Given the description of an element on the screen output the (x, y) to click on. 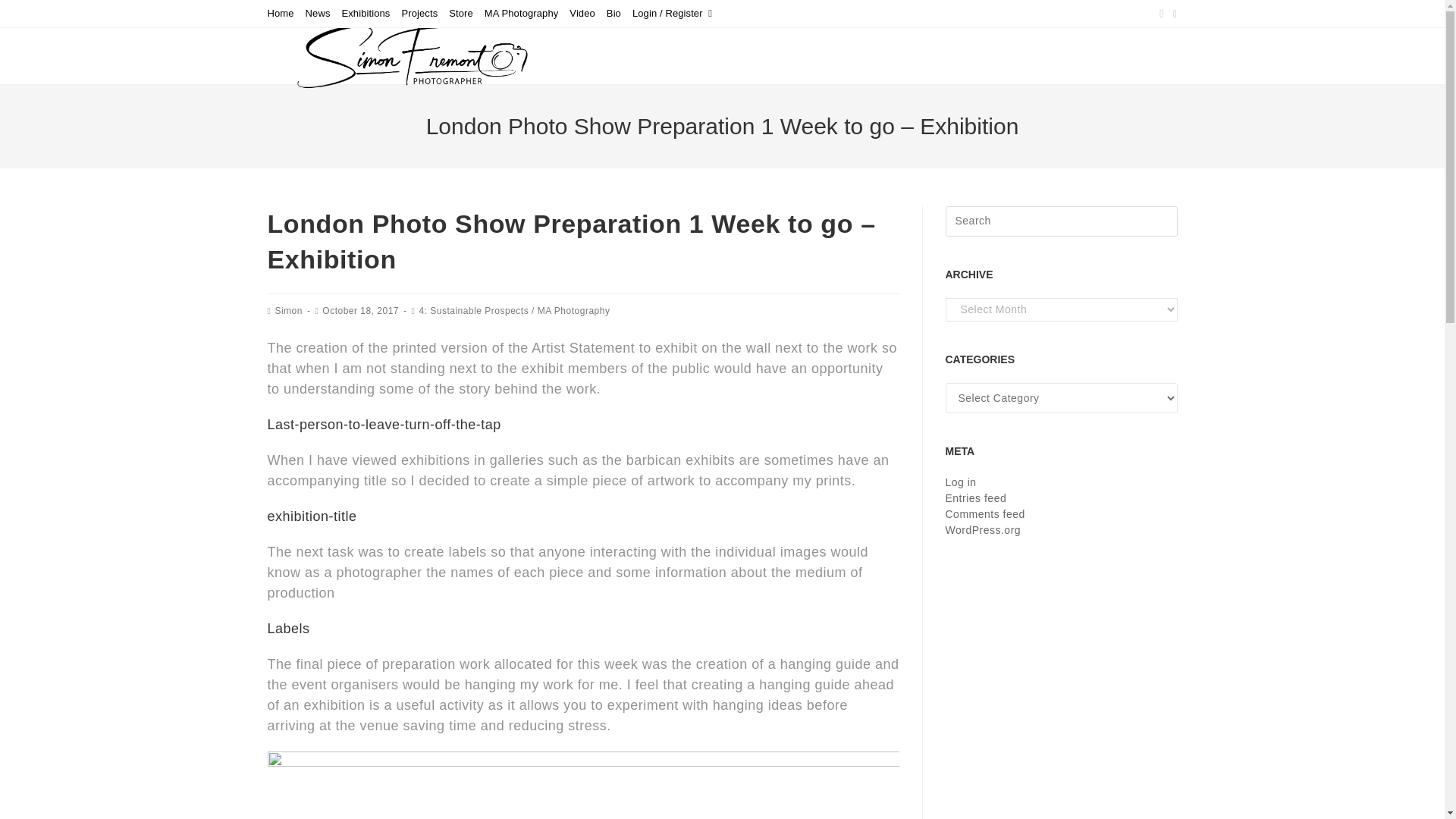
Bio (614, 13)
Store (460, 13)
Exhibitions (365, 13)
Entries feed (975, 498)
Last-person-to-leave-turn-off-the-tap (383, 424)
News (317, 13)
4: Sustainable Prospects (473, 310)
Twitter (1161, 13)
Projects (419, 13)
Log in (959, 481)
